Given the description of an element on the screen output the (x, y) to click on. 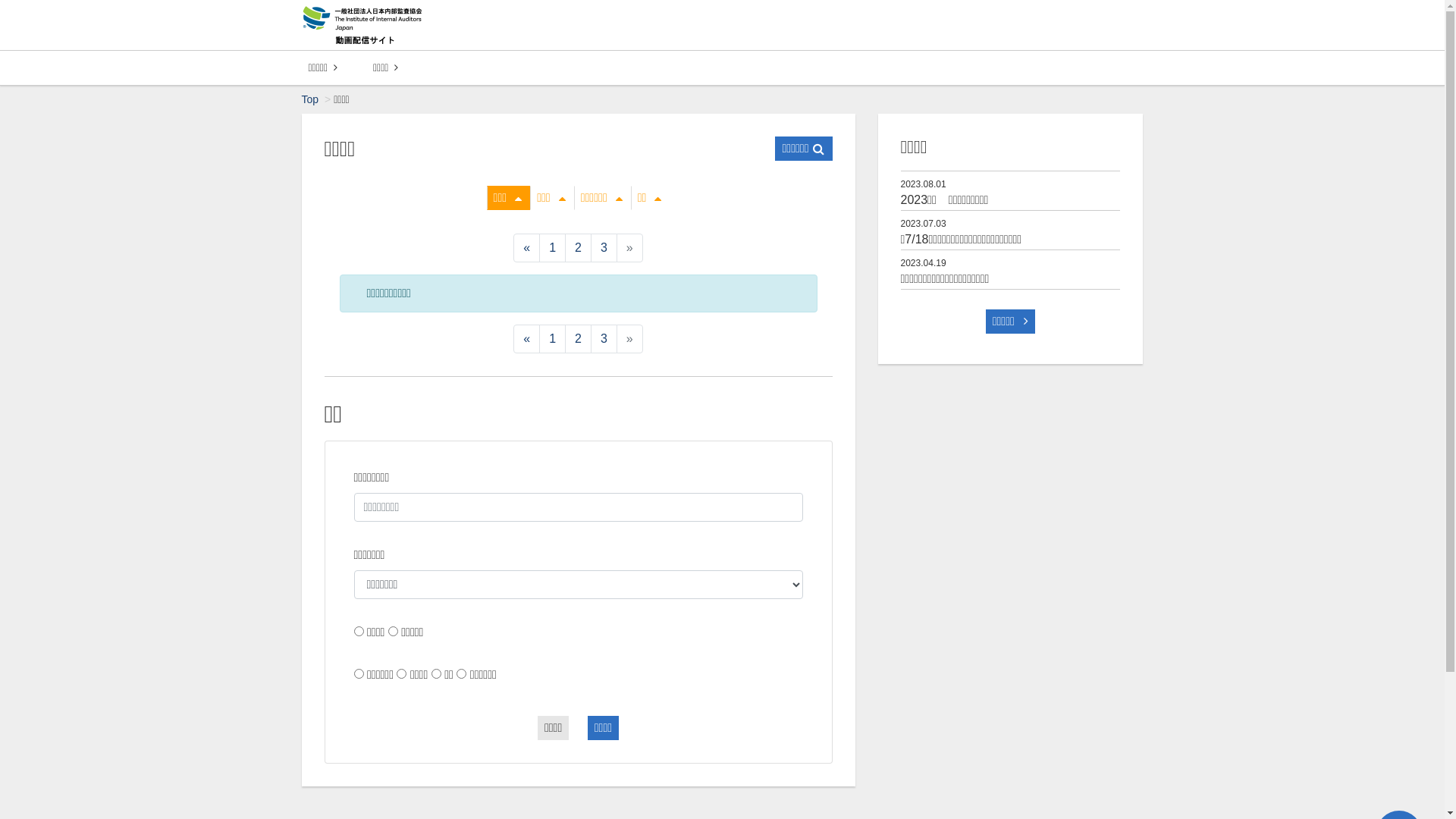
3 Element type: text (603, 247)
2 Element type: text (577, 338)
3 Element type: text (603, 338)
2 Element type: text (577, 247)
Top Element type: text (310, 99)
1 Element type: text (552, 338)
1 Element type: text (552, 247)
